Given the description of an element on the screen output the (x, y) to click on. 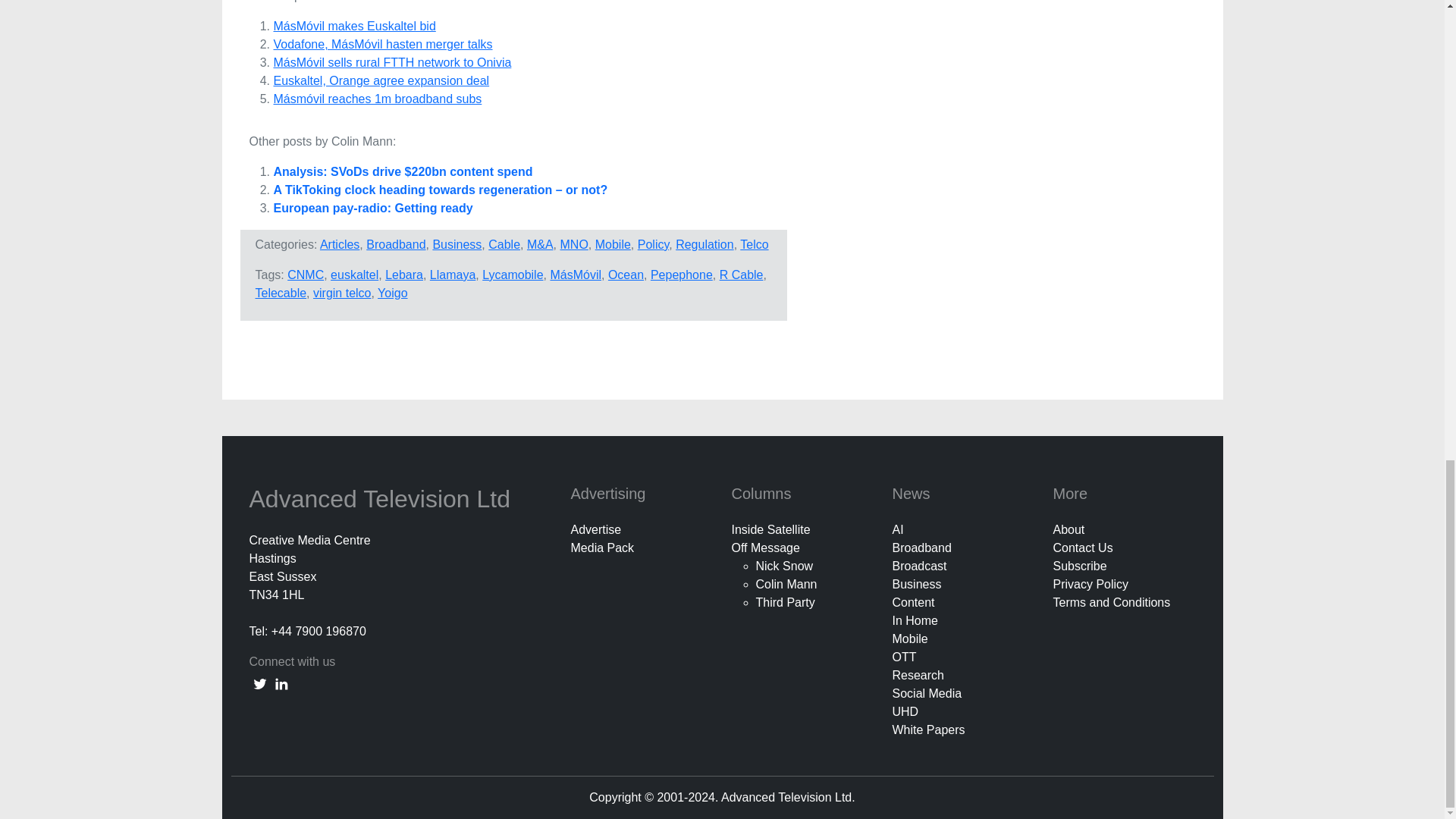
Telco (753, 244)
CNMC (304, 274)
Broadband (395, 244)
Euskaltel, Orange agree expansion deal (381, 80)
Cable (503, 244)
Articles (339, 244)
euskaltel (354, 274)
Business (456, 244)
Policy (653, 244)
Lebara (404, 274)
